Given the description of an element on the screen output the (x, y) to click on. 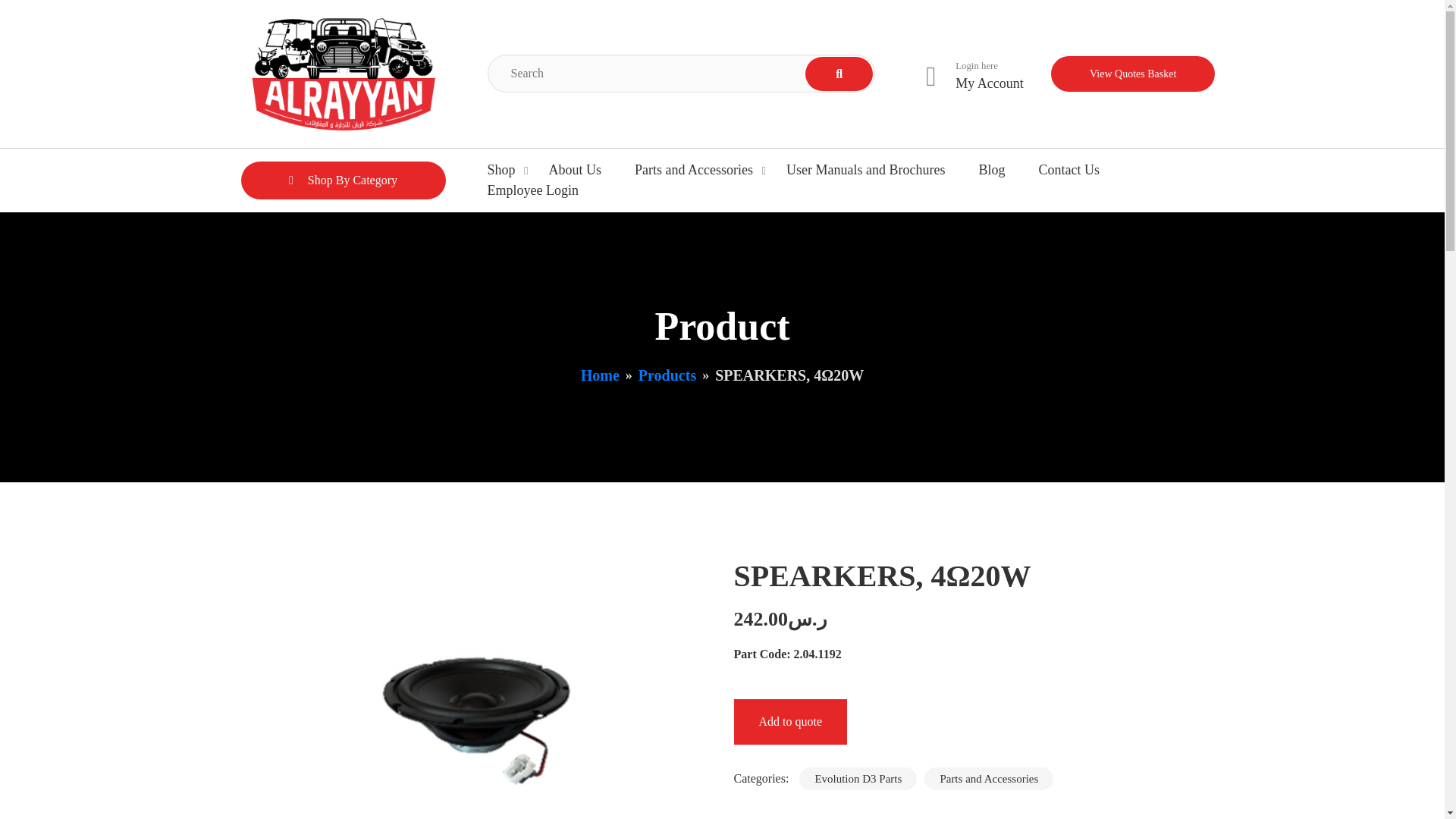
Shop (500, 169)
View Quotes Basket (1133, 73)
Parts and Accessories (693, 169)
Shop By Category (343, 180)
Log In (967, 338)
About Us (575, 169)
